Given the description of an element on the screen output the (x, y) to click on. 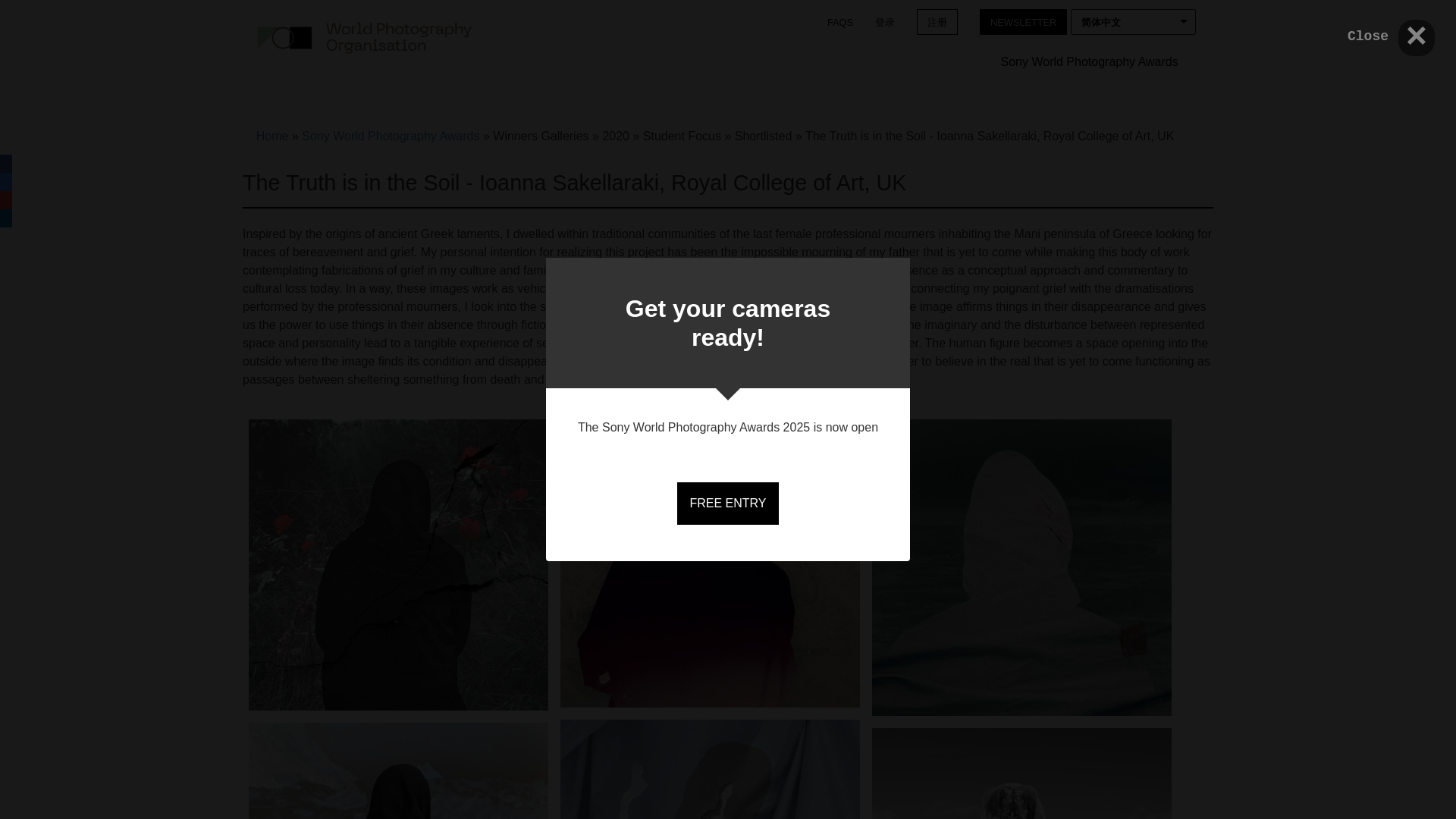
Sony World Photography Awards (1089, 62)
Get your cameras ready! (727, 322)
Home (363, 37)
FAQS (839, 21)
NEWSLETTER (1022, 21)
FREE ENTRY (727, 503)
